Given the description of an element on the screen output the (x, y) to click on. 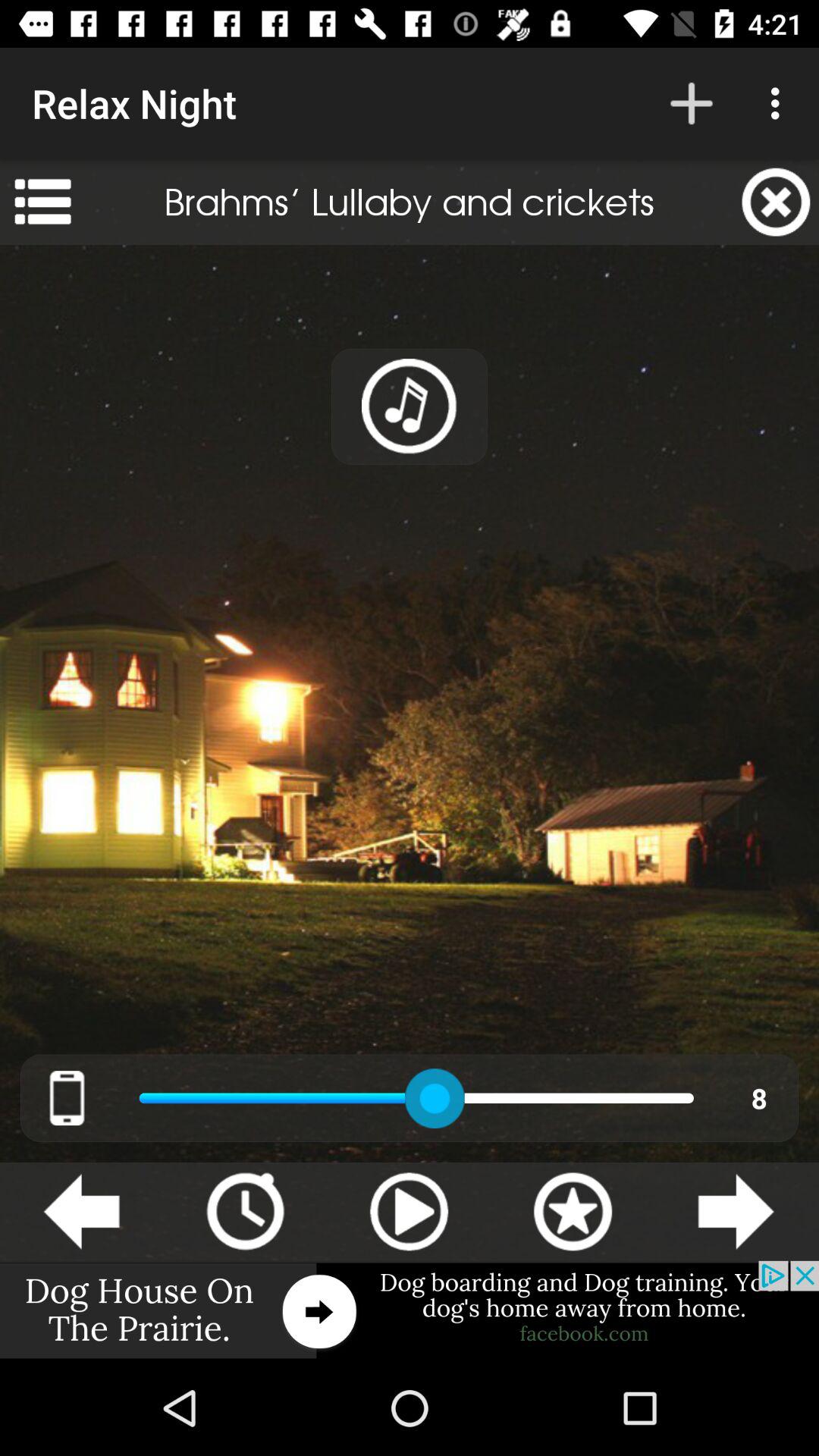
tap app below the brahms lullaby and item (409, 406)
